Given the description of an element on the screen output the (x, y) to click on. 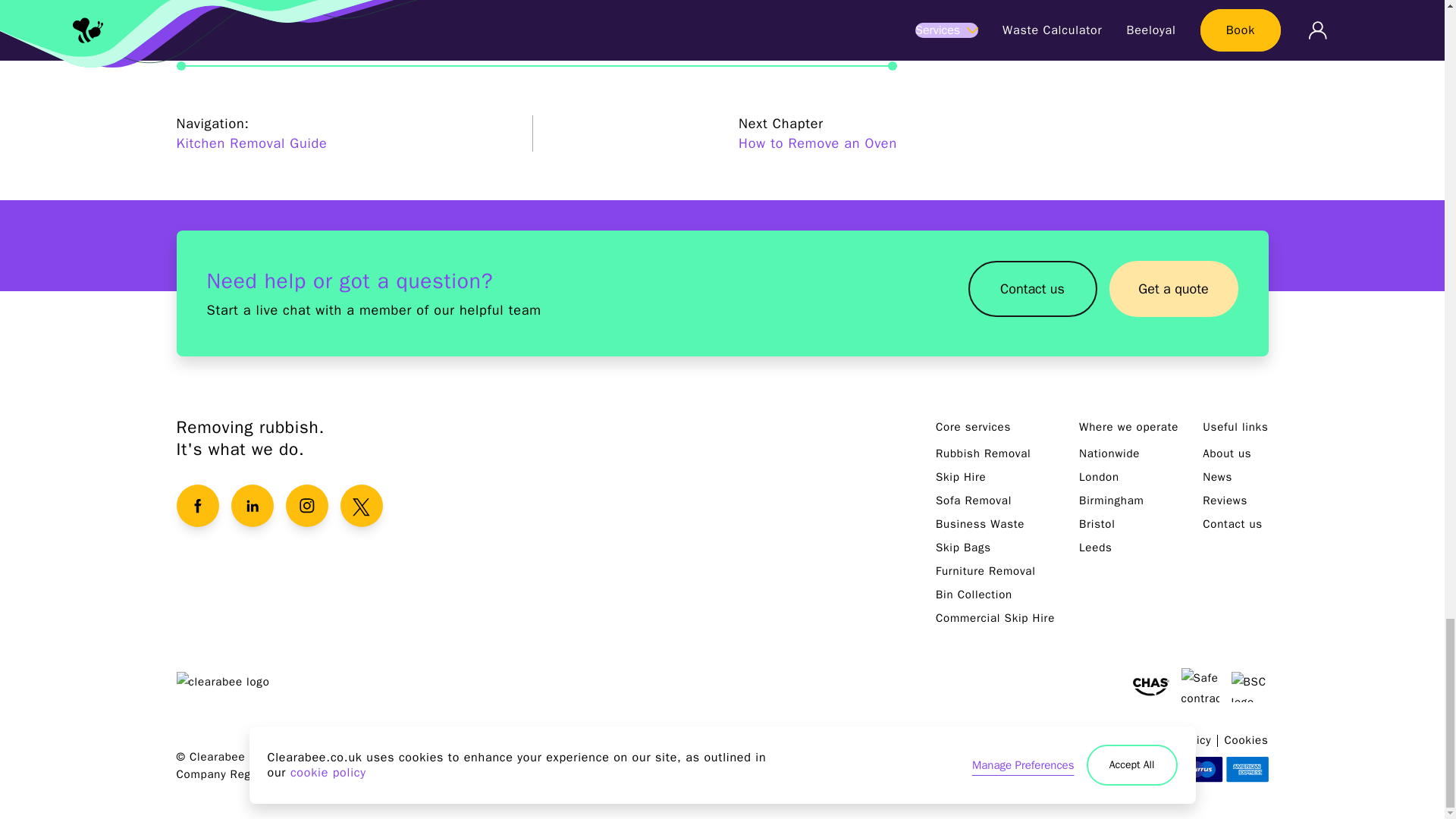
Business Waste (980, 523)
Contact us (1032, 288)
Furniture Removal (985, 571)
How to Remove an Oven (817, 143)
Skip Hire (961, 477)
Sofa Removal (973, 499)
Get a quote (1172, 293)
Skip Bags (963, 547)
Contact us (1032, 293)
Kitchen Removal Guide (251, 143)
